Given the description of an element on the screen output the (x, y) to click on. 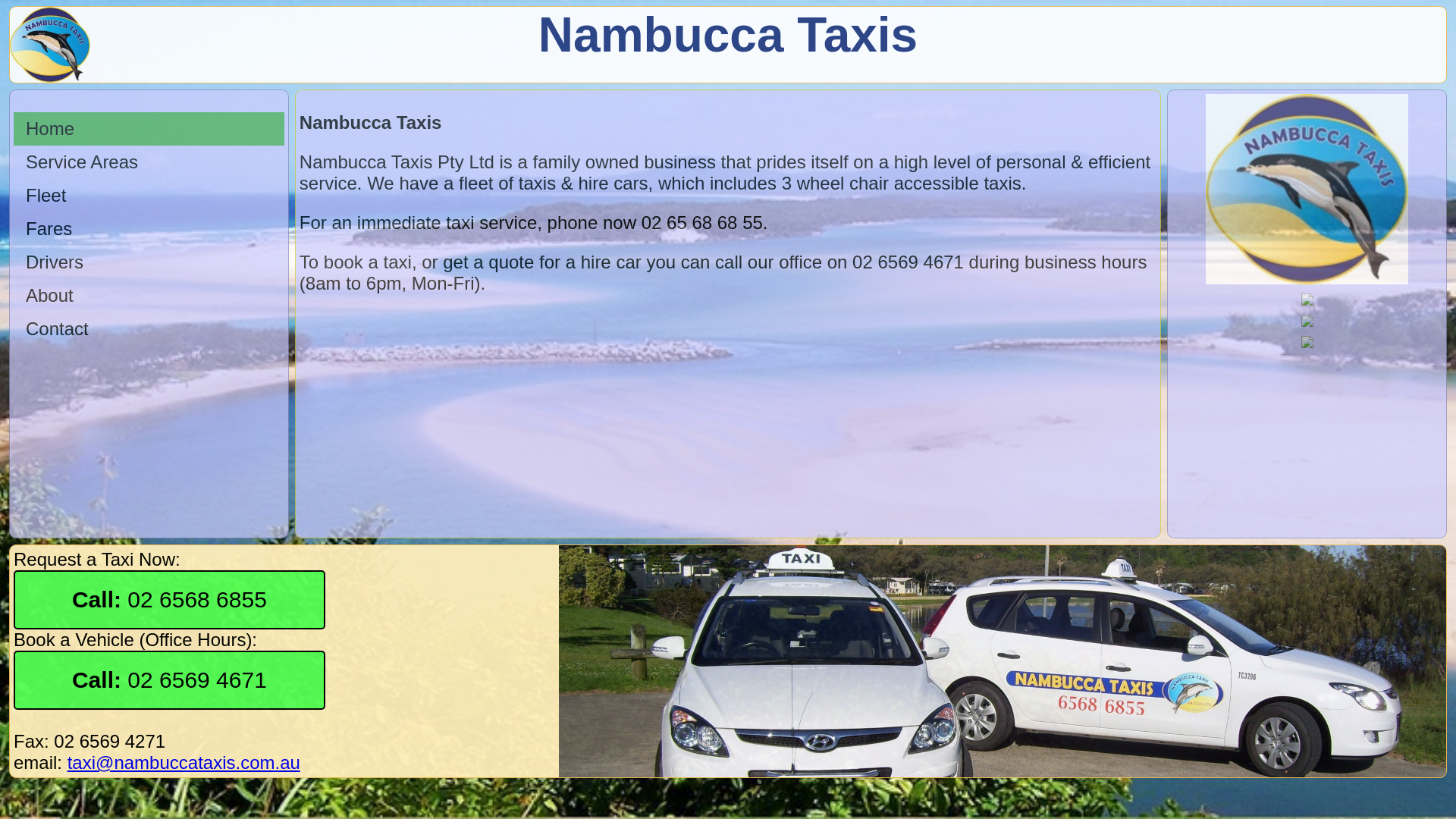
Service Areas Element type: text (148, 161)
02 6569 4671 Element type: text (169, 679)
Contact Element type: text (148, 328)
Home Element type: text (148, 128)
Fleet Element type: text (148, 195)
About Element type: text (148, 295)
Fares Element type: text (148, 228)
taxi@nambuccataxis.com.au Element type: text (183, 762)
02 6568 6855 Element type: text (169, 599)
Drivers Element type: text (148, 262)
